Given the description of an element on the screen output the (x, y) to click on. 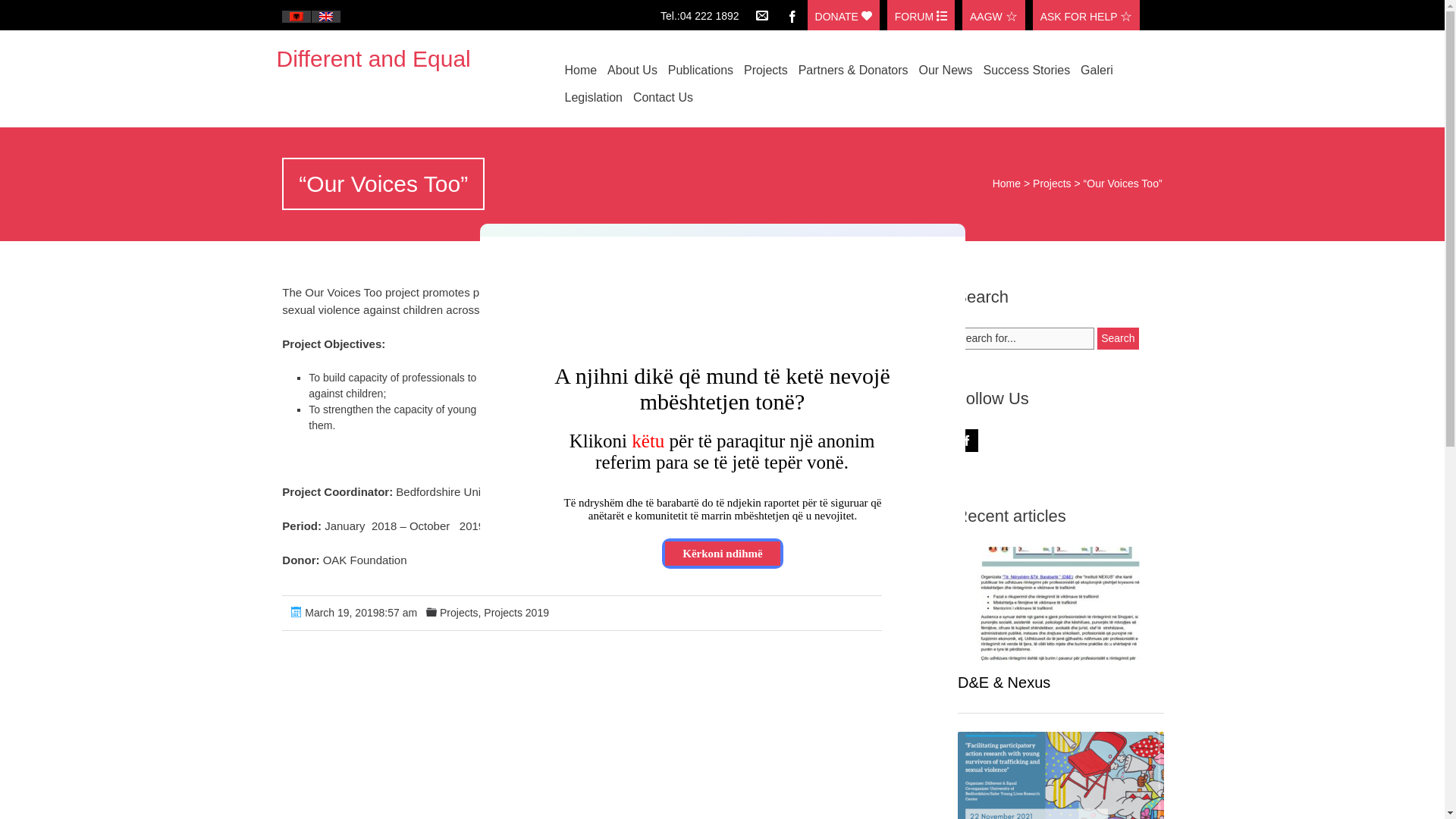
DONATE (843, 15)
Home (1006, 183)
Tel.:04 222 1892 (703, 12)
AAGW (993, 15)
FORUM (920, 15)
Facebook (792, 15)
ASK FOR HELP (1086, 15)
Publications (699, 70)
Our News (944, 70)
About Us (632, 70)
English (325, 16)
Home (580, 70)
Projects 2019 (515, 612)
Success Stories (1026, 70)
